Given the description of an element on the screen output the (x, y) to click on. 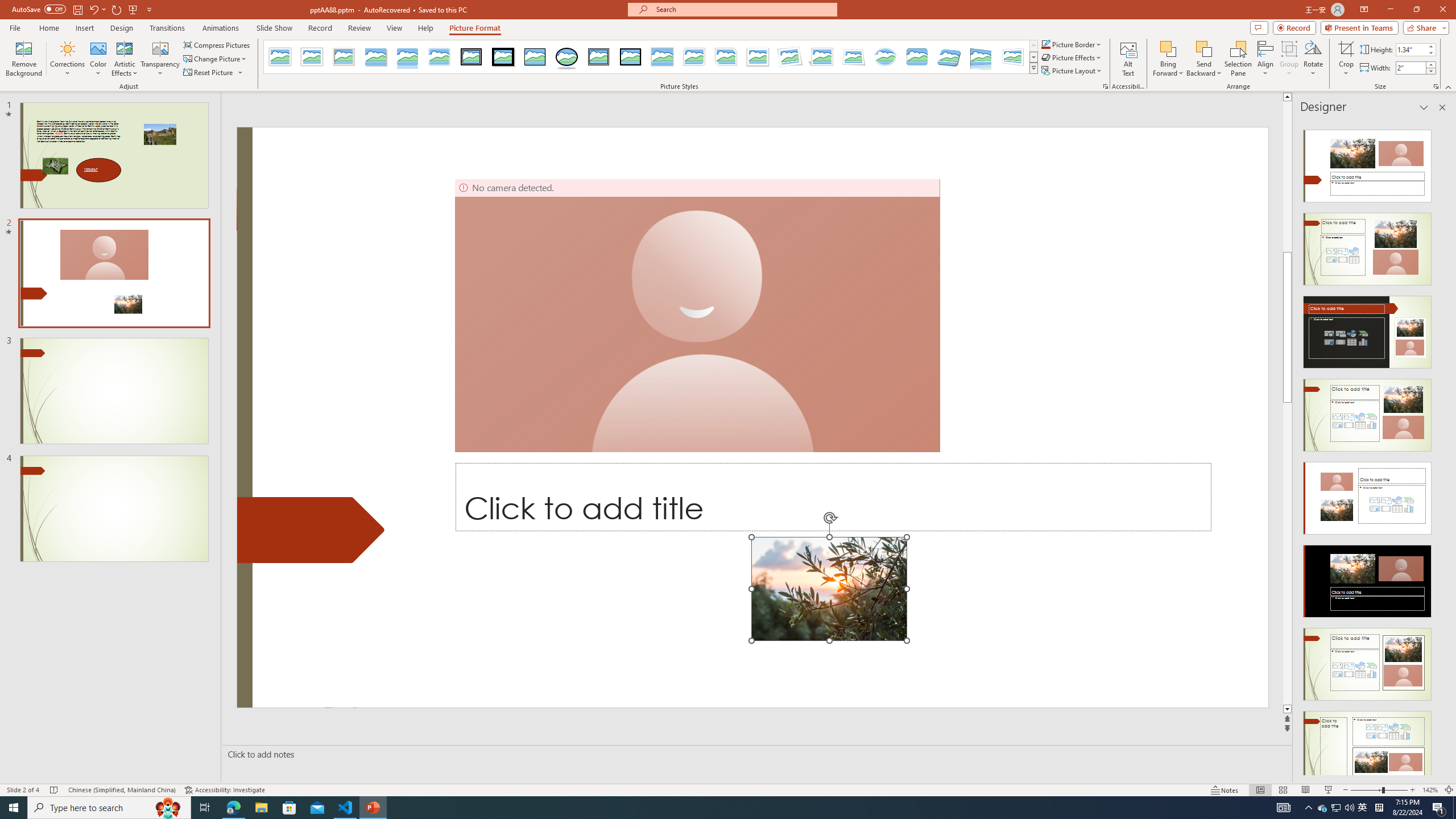
More (1430, 64)
Compress Pictures... (217, 44)
Simple Frame, White (280, 56)
Crop (1345, 48)
Selection Pane... (1238, 58)
Bring Forward (1168, 48)
Picture Border (1071, 44)
Metal Frame (343, 56)
